Given the description of an element on the screen output the (x, y) to click on. 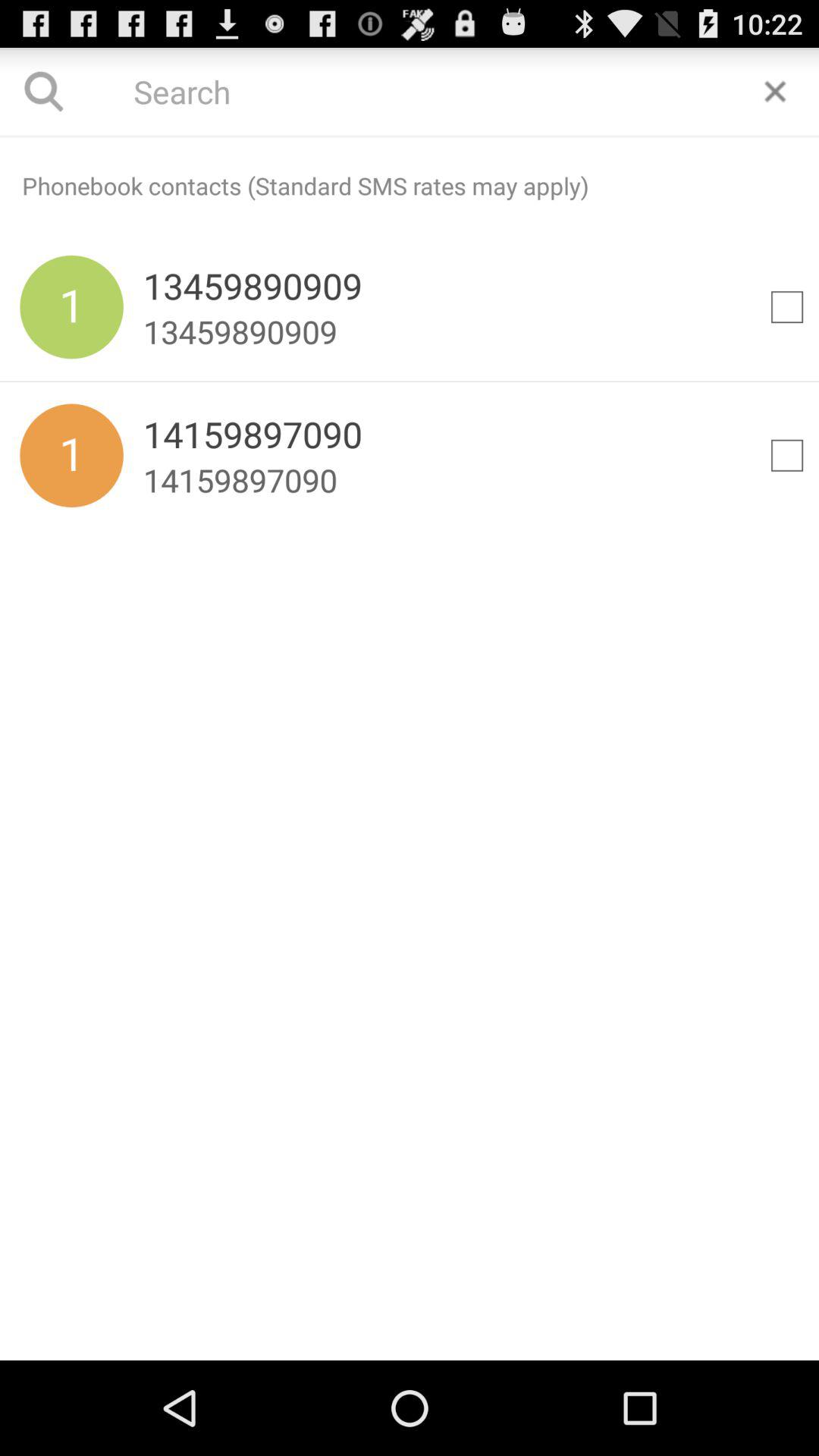
optional check box (787, 306)
